Given the description of an element on the screen output the (x, y) to click on. 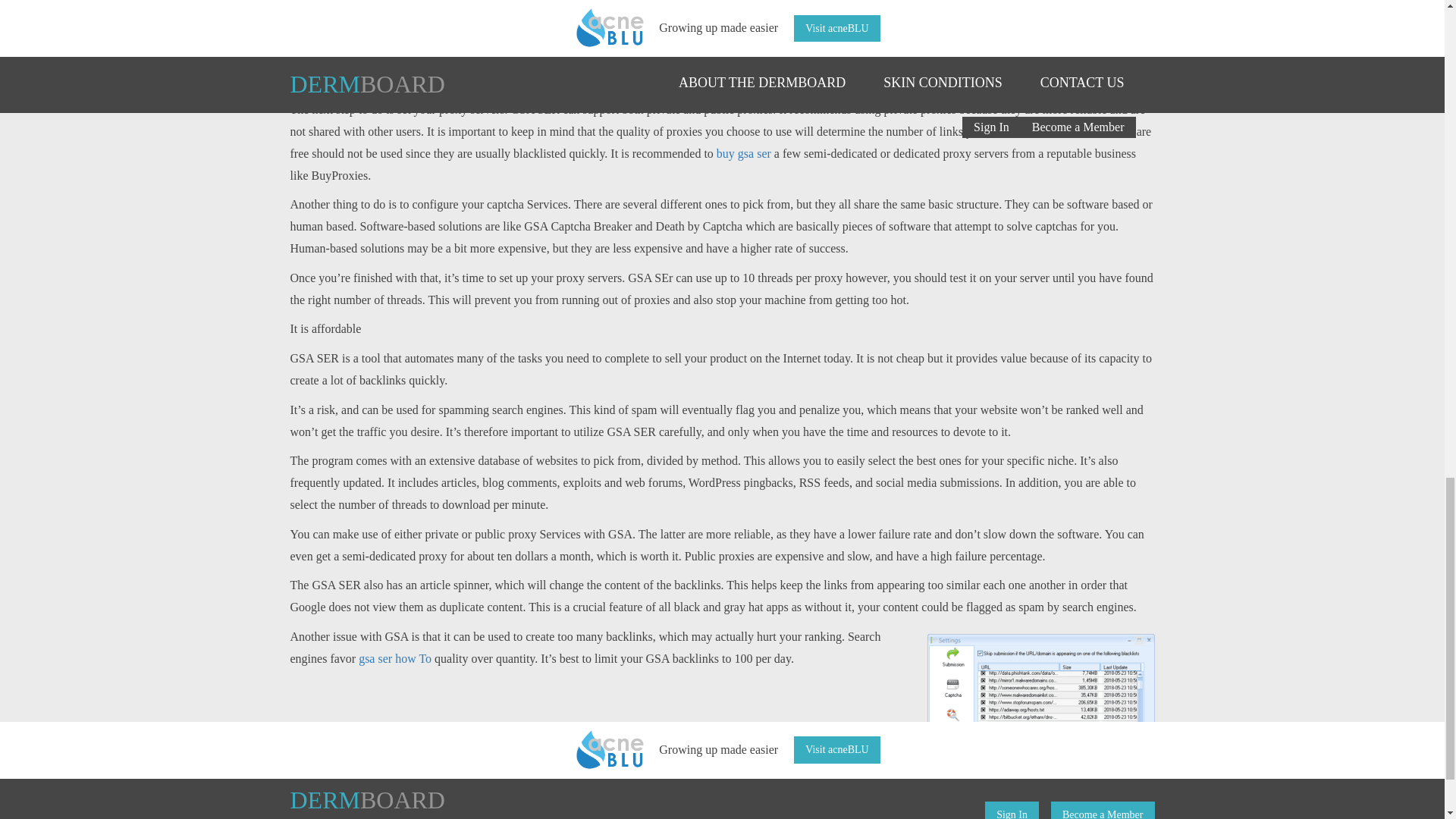
buy gsa ser (743, 153)
gsa ser how To (394, 658)
gsa ser links (593, 58)
Visit acneBLU (836, 749)
